Given the description of an element on the screen output the (x, y) to click on. 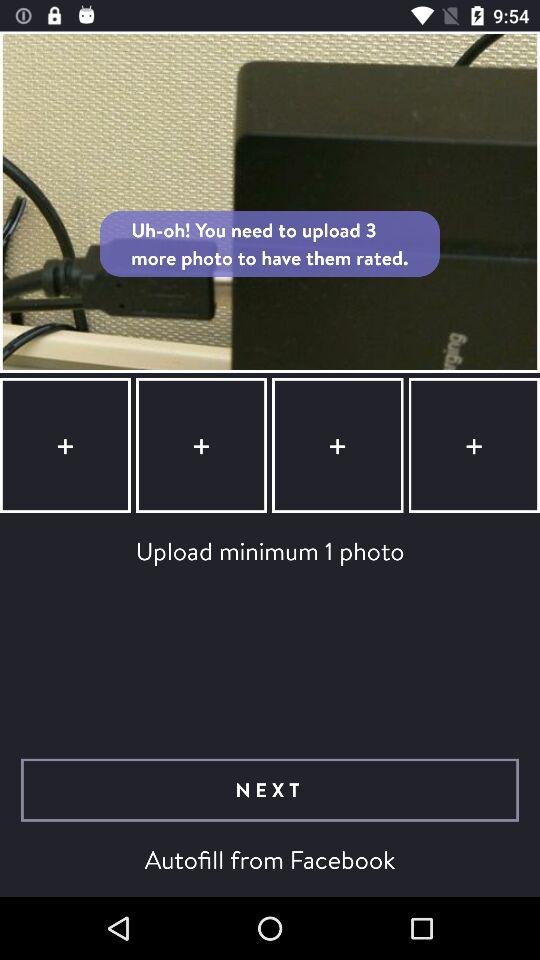
swipe until autofill from facebook (270, 859)
